Given the description of an element on the screen output the (x, y) to click on. 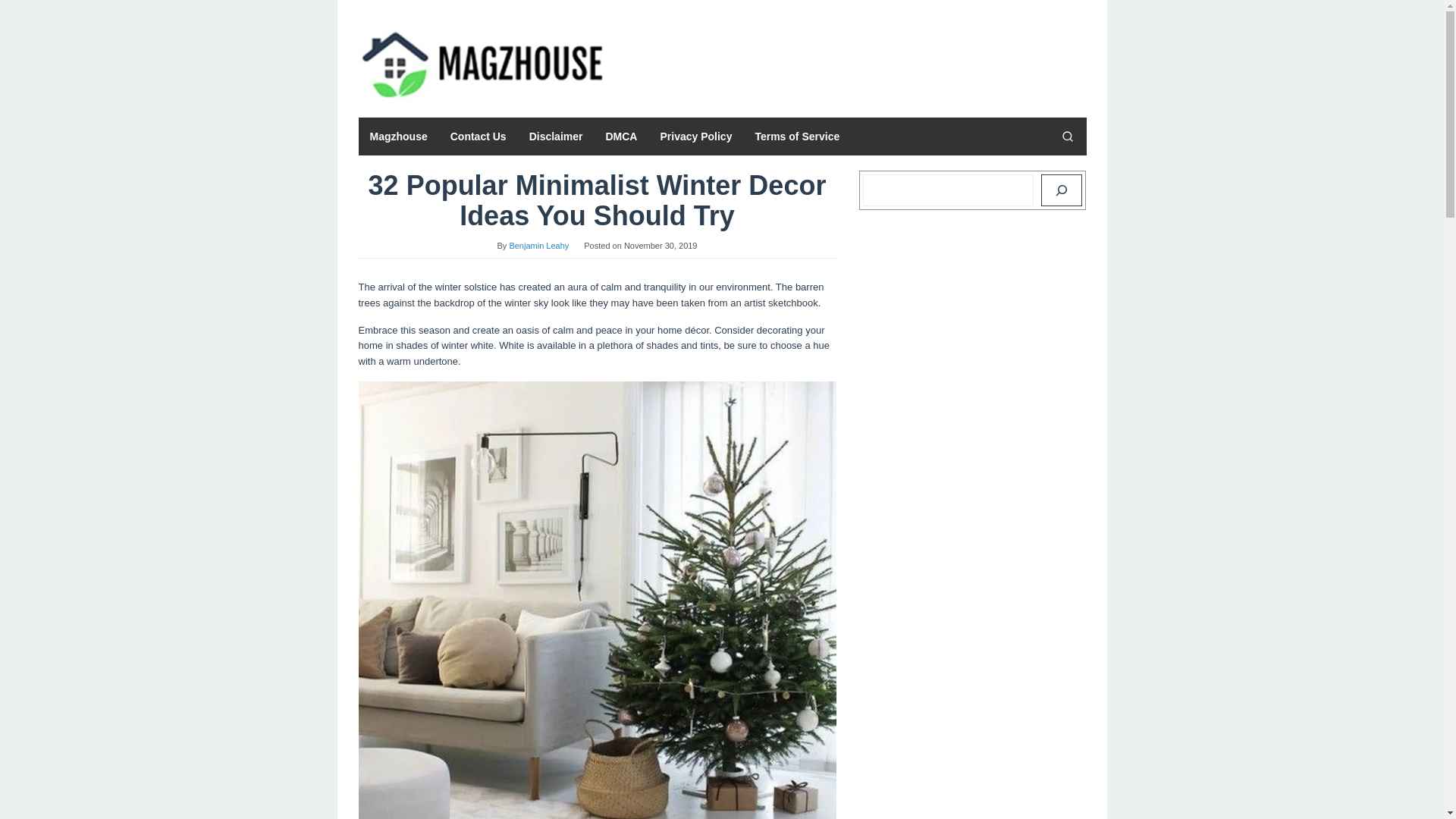
Magzhouse (398, 136)
Disclaimer (556, 136)
Contact Us (478, 136)
DMCA (620, 136)
Privacy Policy (694, 136)
Permalink to: Benjamin Leahy (538, 245)
MAGZHOUSE (481, 64)
MAGZHOUSE (481, 62)
Search (1067, 136)
